Given the description of an element on the screen output the (x, y) to click on. 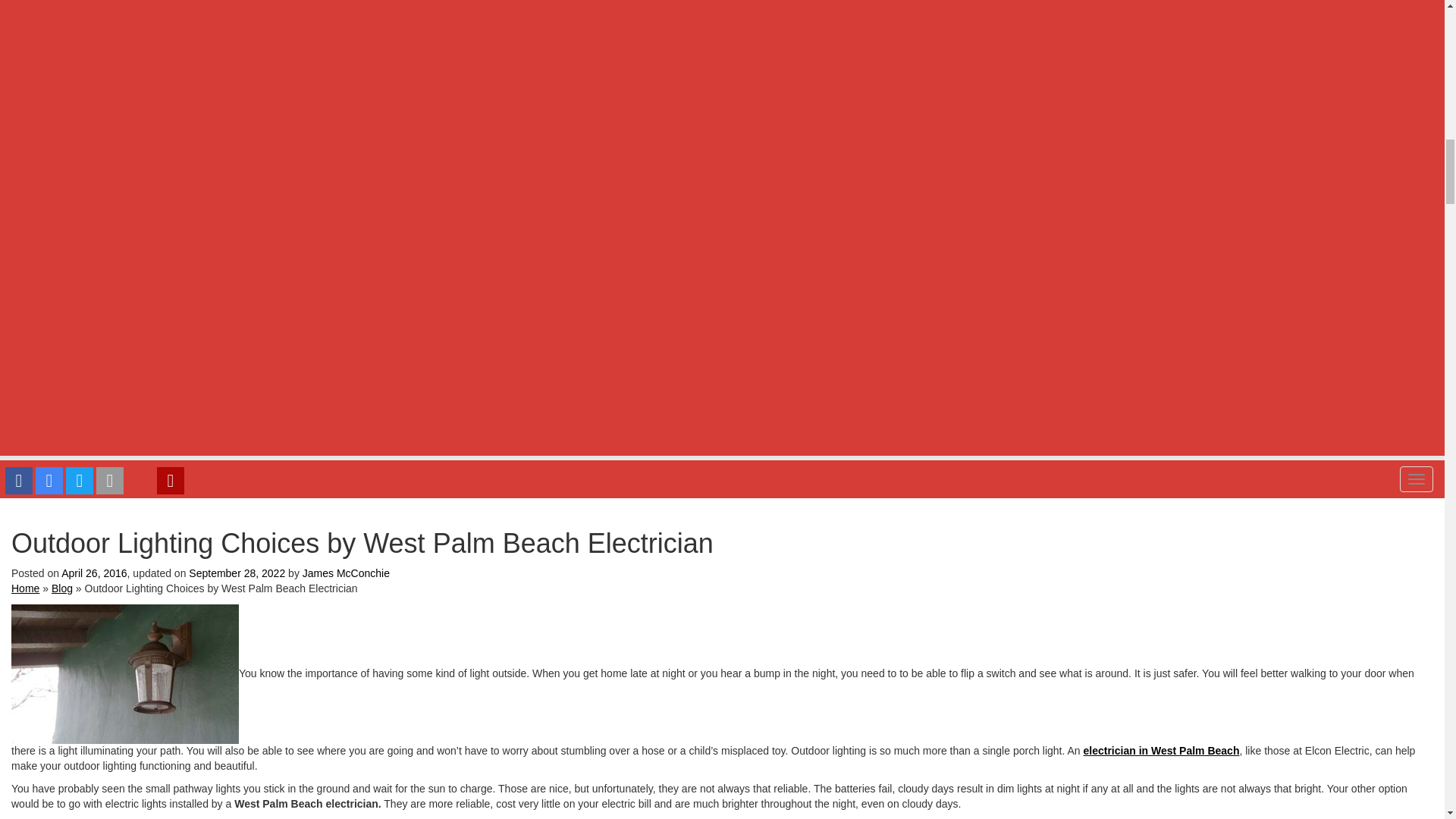
Yelp (170, 480)
Facebook (18, 480)
BBB (140, 480)
Blog (61, 588)
Toggle navigation (1415, 479)
Home (25, 588)
electrician in West Palm Beach (1161, 750)
September 28, 2022 (237, 573)
BBB (140, 480)
Google My Business (48, 480)
